Given the description of an element on the screen output the (x, y) to click on. 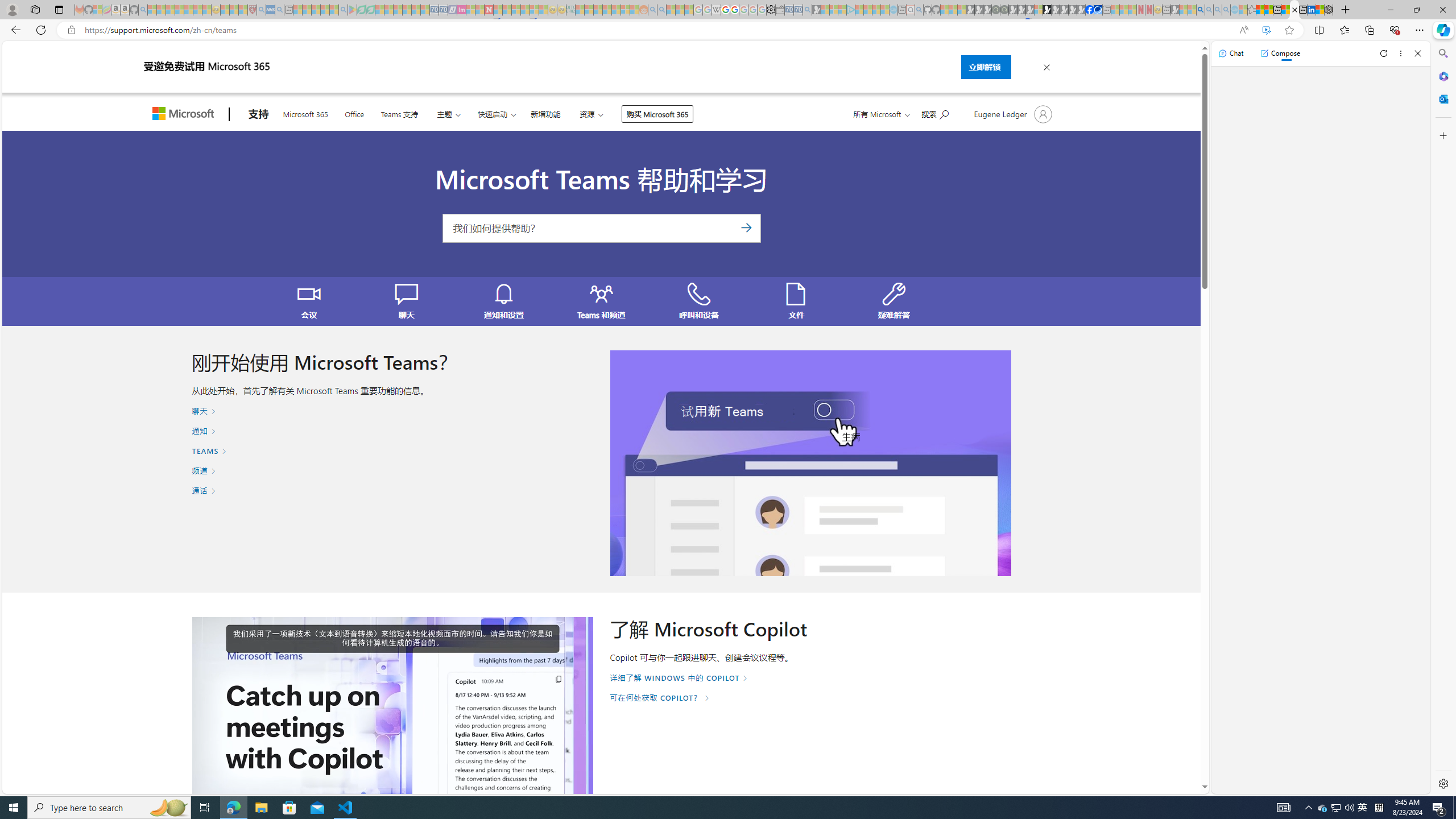
Kinda Frugal - MSN - Sleeping (616, 9)
github - Search - Sleeping (919, 9)
Search (1442, 53)
Jobs - lastminute.com Investor Portal - Sleeping (461, 9)
Read aloud this page (Ctrl+Shift+U) (1243, 29)
More options (1401, 53)
Office (354, 112)
